Given the description of an element on the screen output the (x, y) to click on. 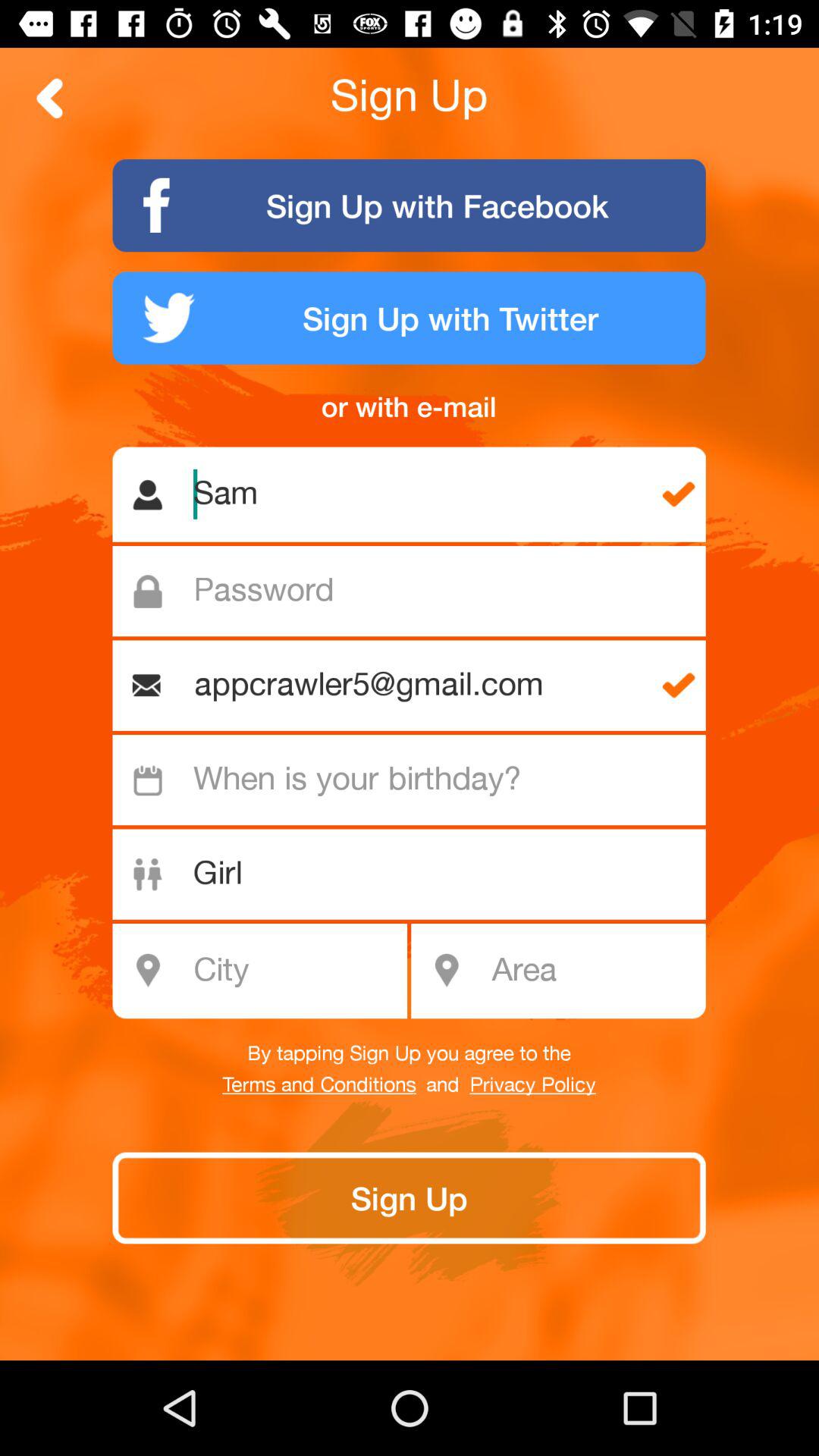
select the icon which is left side of the when is your birthday (148, 780)
click on the twitter below facebook (409, 318)
click on the last button of the page (408, 1197)
click the location icon left to area (446, 970)
select the text city shown below girl (268, 970)
click on the text field below password (415, 685)
click on the first tick symbol (678, 493)
click on the facebook signup below sign up (409, 204)
select the icon which is left side of the city (148, 970)
select the text below sign up at the top of the page (409, 204)
select the icon below the calendar icon on the web page (148, 874)
click on the text field which is below when is your birthday (417, 874)
